Given the description of an element on the screen output the (x, y) to click on. 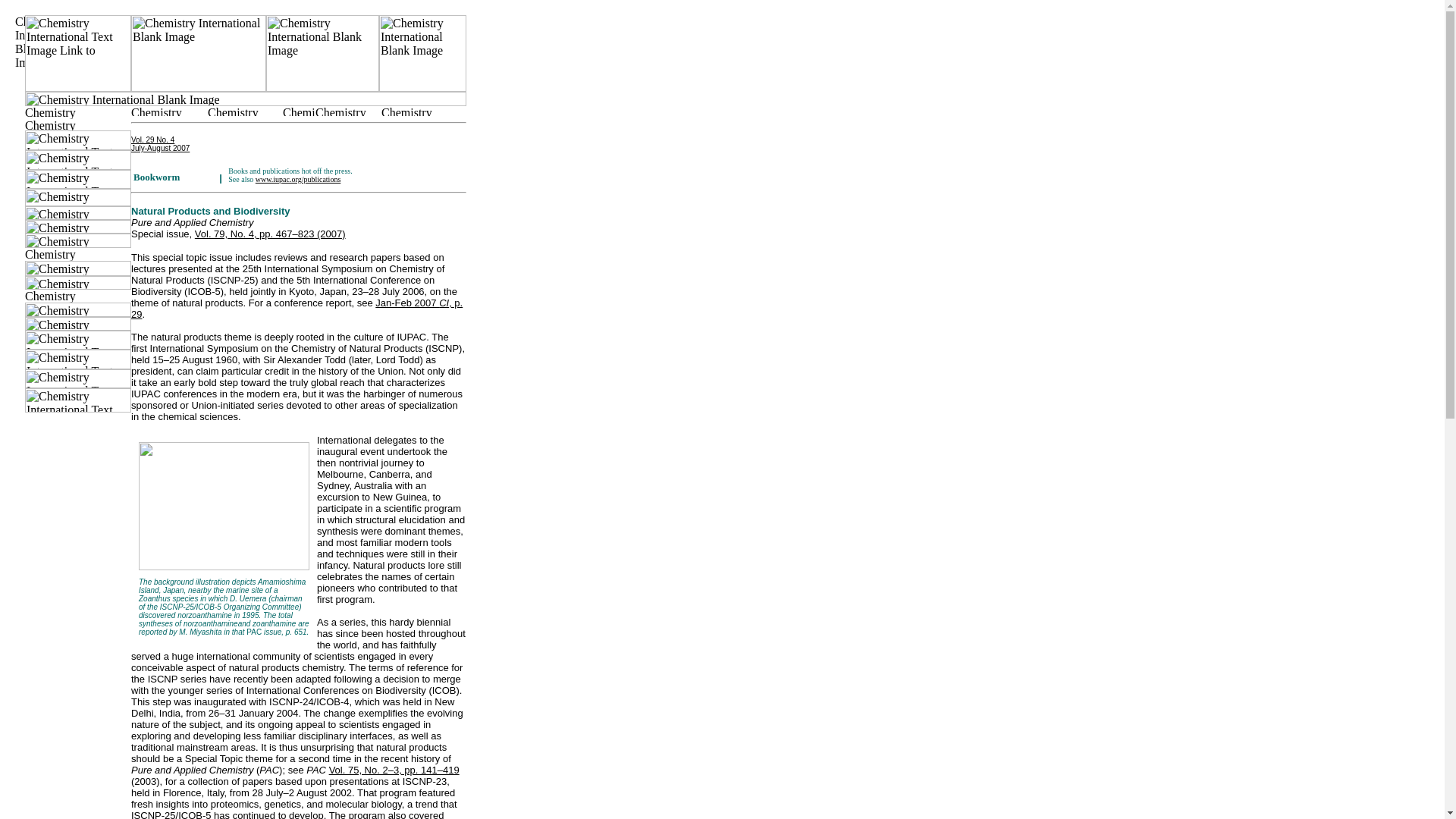
Jan-Feb 2007 CI, p. 29 (160, 143)
